Given the description of an element on the screen output the (x, y) to click on. 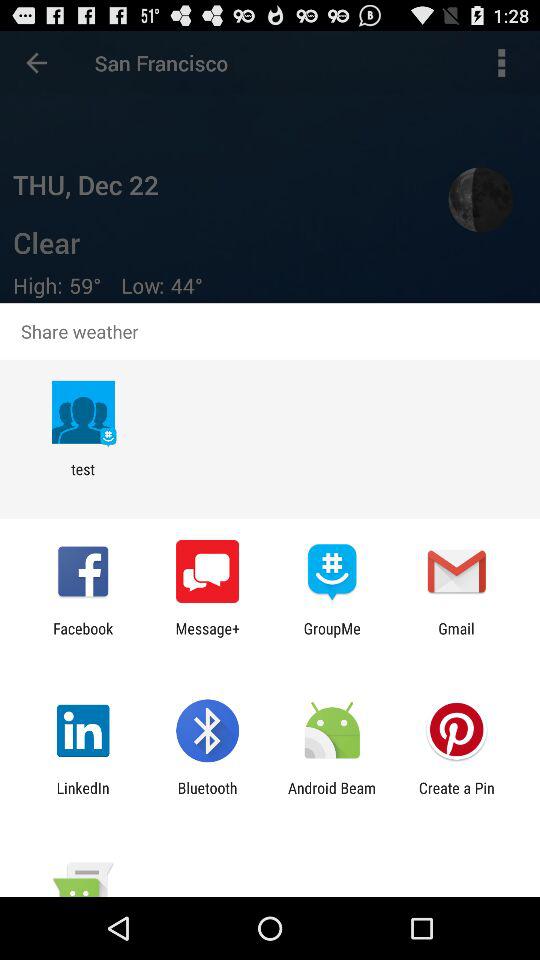
turn on the create a pin app (456, 796)
